Given the description of an element on the screen output the (x, y) to click on. 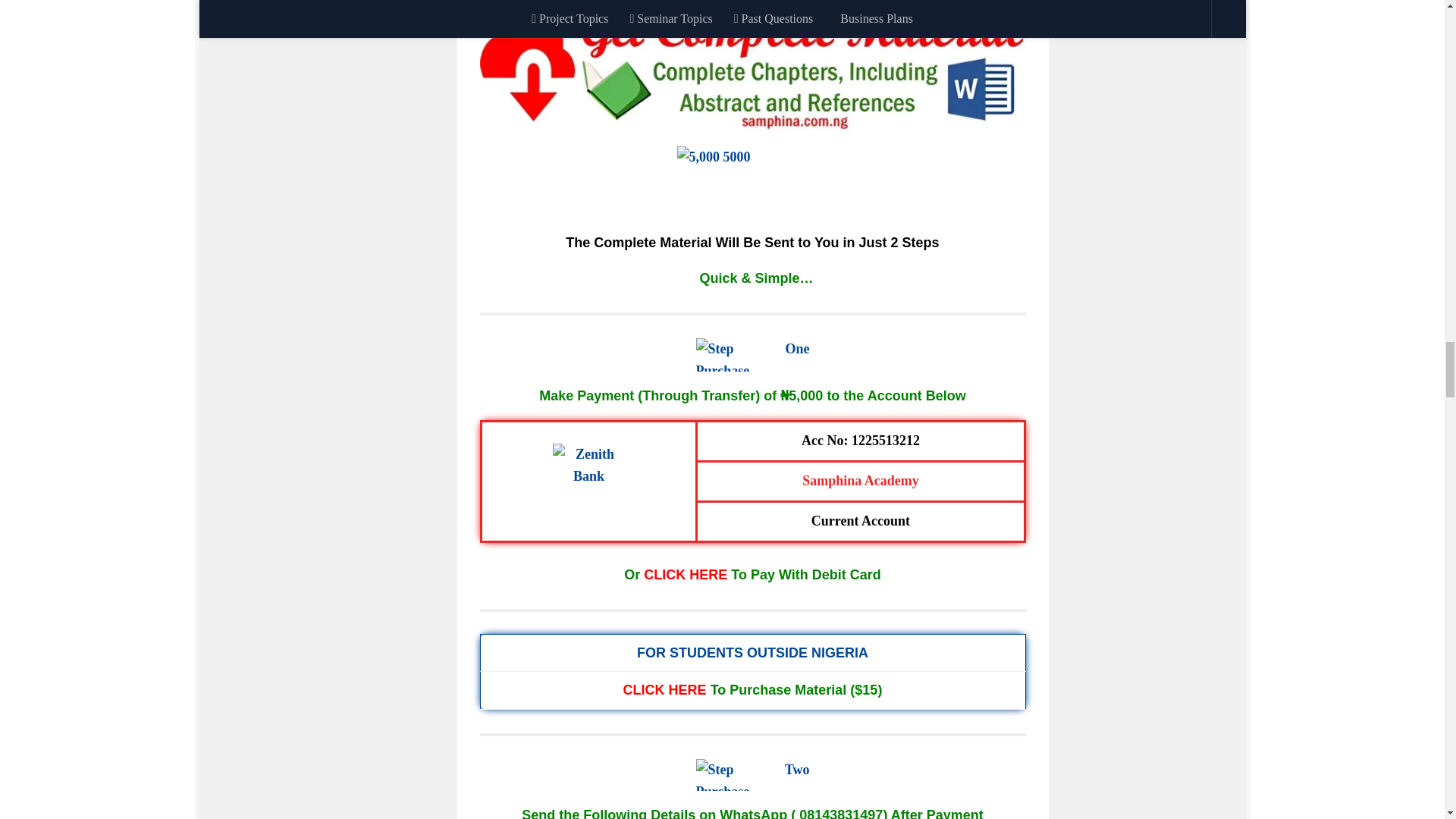
CLICK HERE (684, 574)
CLICK HERE (664, 689)
08143831497 (838, 813)
